Given the description of an element on the screen output the (x, y) to click on. 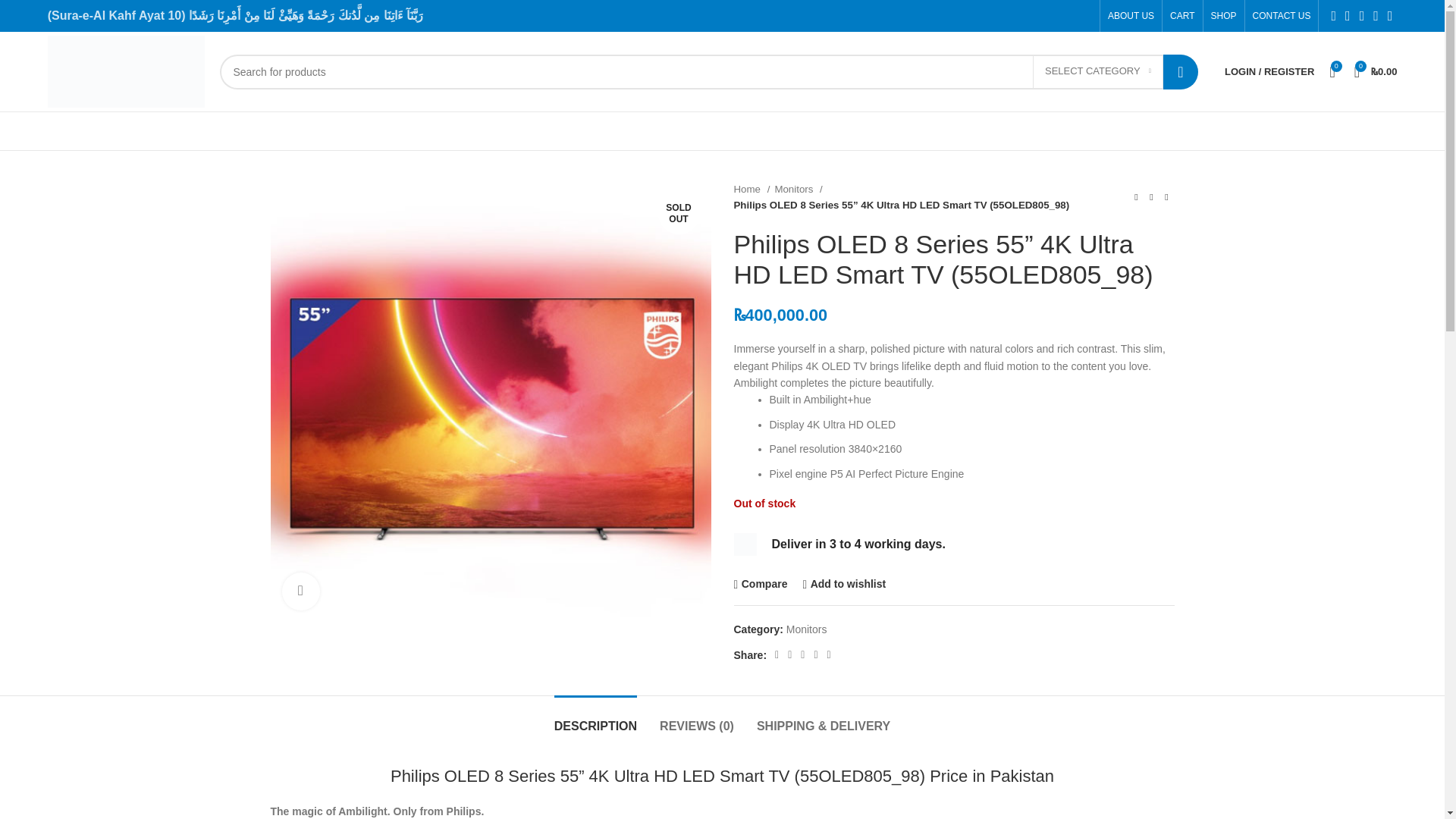
Shopping cart (1375, 71)
SELECT CATEGORY (1097, 71)
SELECT CATEGORY (1097, 71)
ABOUT US (1131, 15)
w-accessories-infobox-1 (745, 544)
My account (1269, 71)
Search for products (708, 71)
CONTACT US (1281, 15)
